Given the description of an element on the screen output the (x, y) to click on. 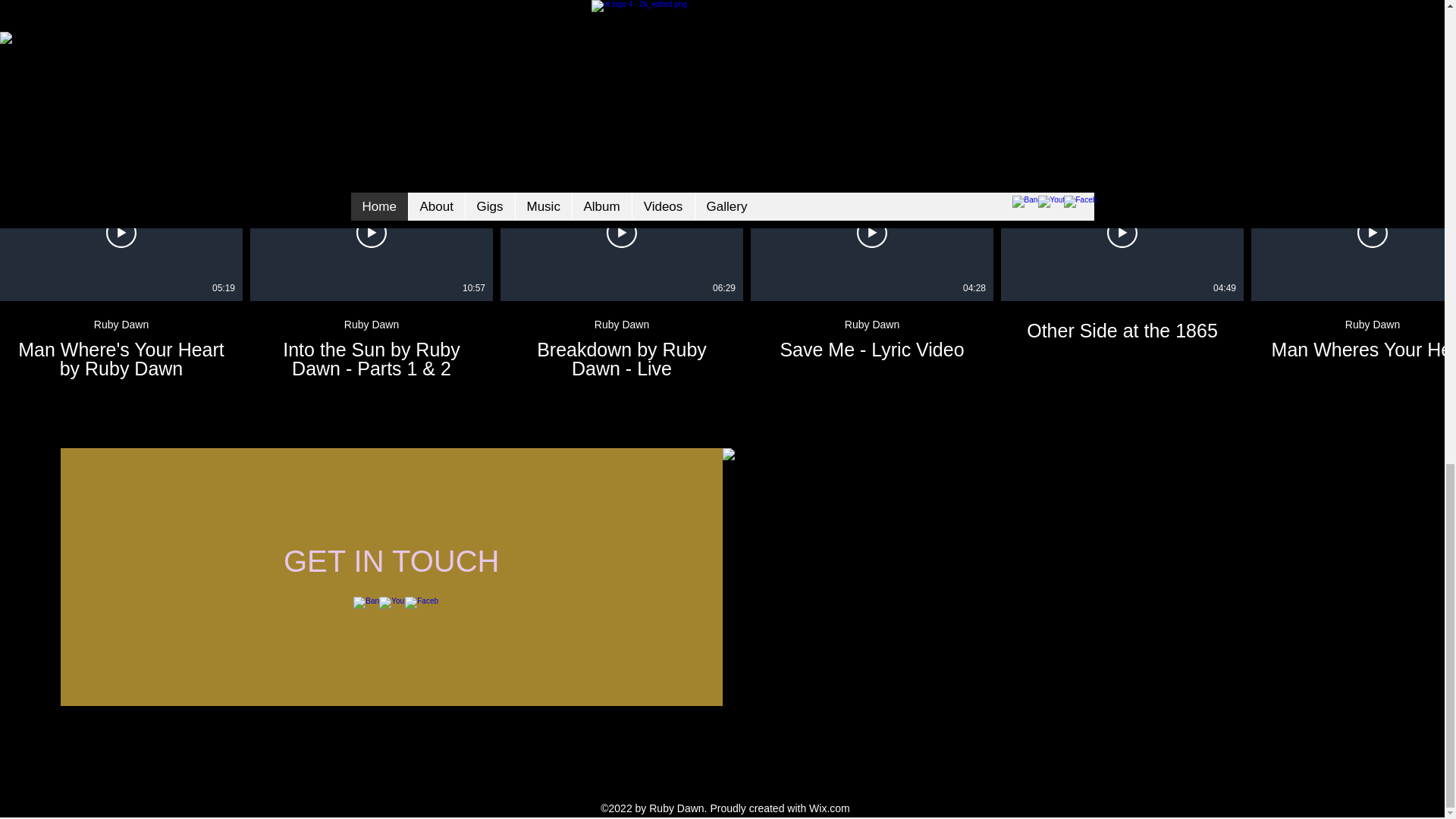
Man Where's Your Heart by Ruby Dawn (120, 359)
Breakdown by Ruby Dawn - Live (621, 359)
Other Side at the 1865 (1122, 321)
Save Me - Lyric Video (871, 331)
Other Side at the 1865 (621, 340)
